Given the description of an element on the screen output the (x, y) to click on. 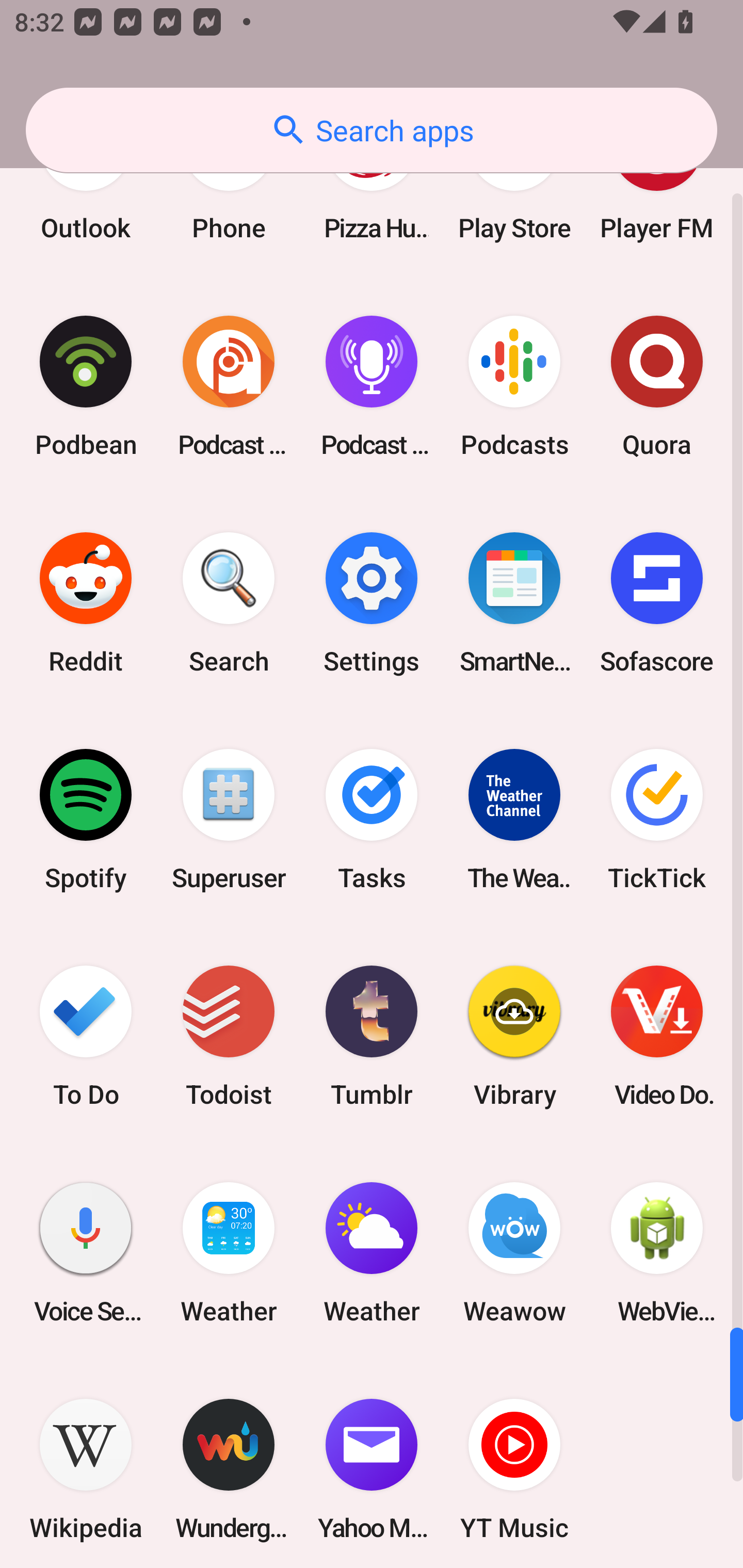
  Search apps (371, 130)
Podbean (85, 385)
Podcast Addict (228, 385)
Podcast Player (371, 385)
Podcasts (514, 385)
Quora (656, 385)
Reddit (85, 602)
Search (228, 602)
Settings (371, 602)
SmartNews (514, 602)
Sofascore (656, 602)
Spotify (85, 819)
Superuser (228, 819)
Tasks (371, 819)
The Weather Channel (514, 819)
TickTick (656, 819)
To Do (85, 1036)
Todoist (228, 1036)
Tumblr (371, 1036)
Vibrary (514, 1036)
Video Downloader & Ace Player (656, 1036)
Voice Search (85, 1252)
Weather (228, 1252)
Weather (371, 1252)
Weawow (514, 1252)
WebView Browser Tester (656, 1252)
Wikipedia (85, 1464)
Wunderground (228, 1464)
Yahoo Mail (371, 1464)
YT Music (514, 1464)
